Given the description of an element on the screen output the (x, y) to click on. 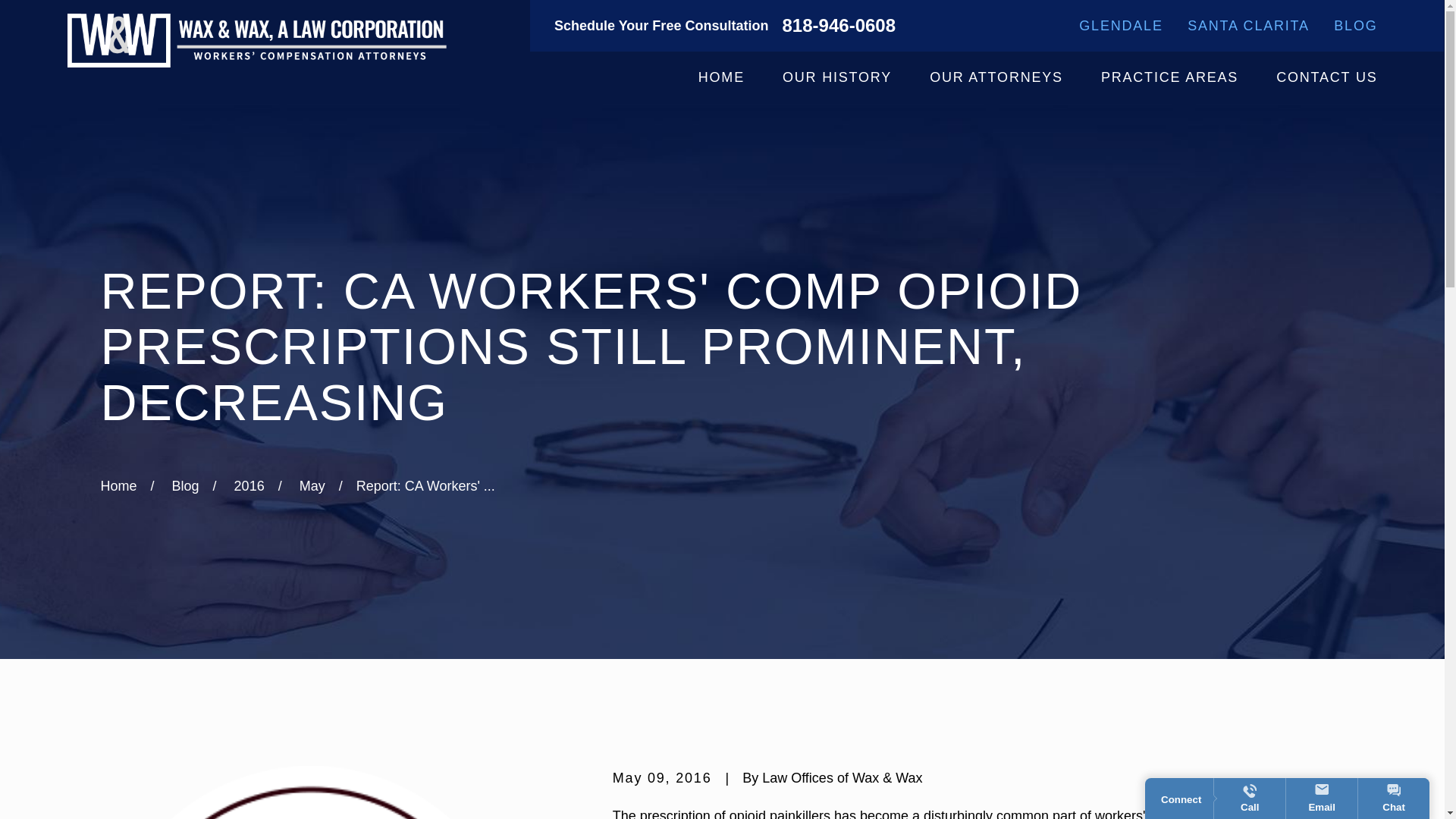
Home (255, 40)
GLENDALE (1119, 25)
PRACTICE AREAS (1169, 77)
818-946-0608 (839, 25)
CONTACT US (1326, 77)
OUR HISTORY (837, 77)
HOME (721, 77)
Go Home (118, 485)
BLOG (1355, 25)
OUR ATTORNEYS (996, 77)
